Given the description of an element on the screen output the (x, y) to click on. 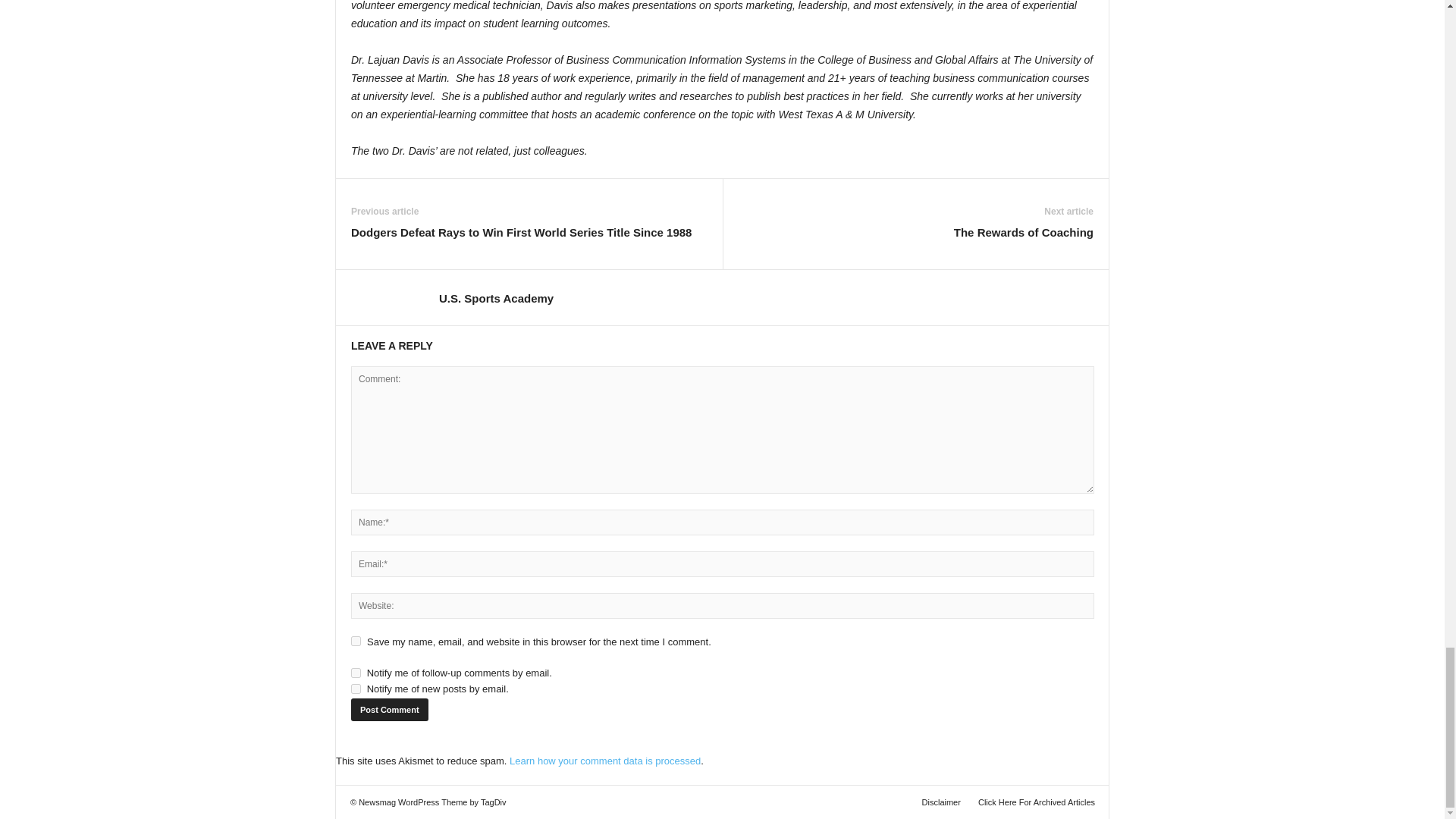
yes (355, 641)
Post Comment (389, 709)
subscribe (355, 673)
subscribe (355, 688)
